Given the description of an element on the screen output the (x, y) to click on. 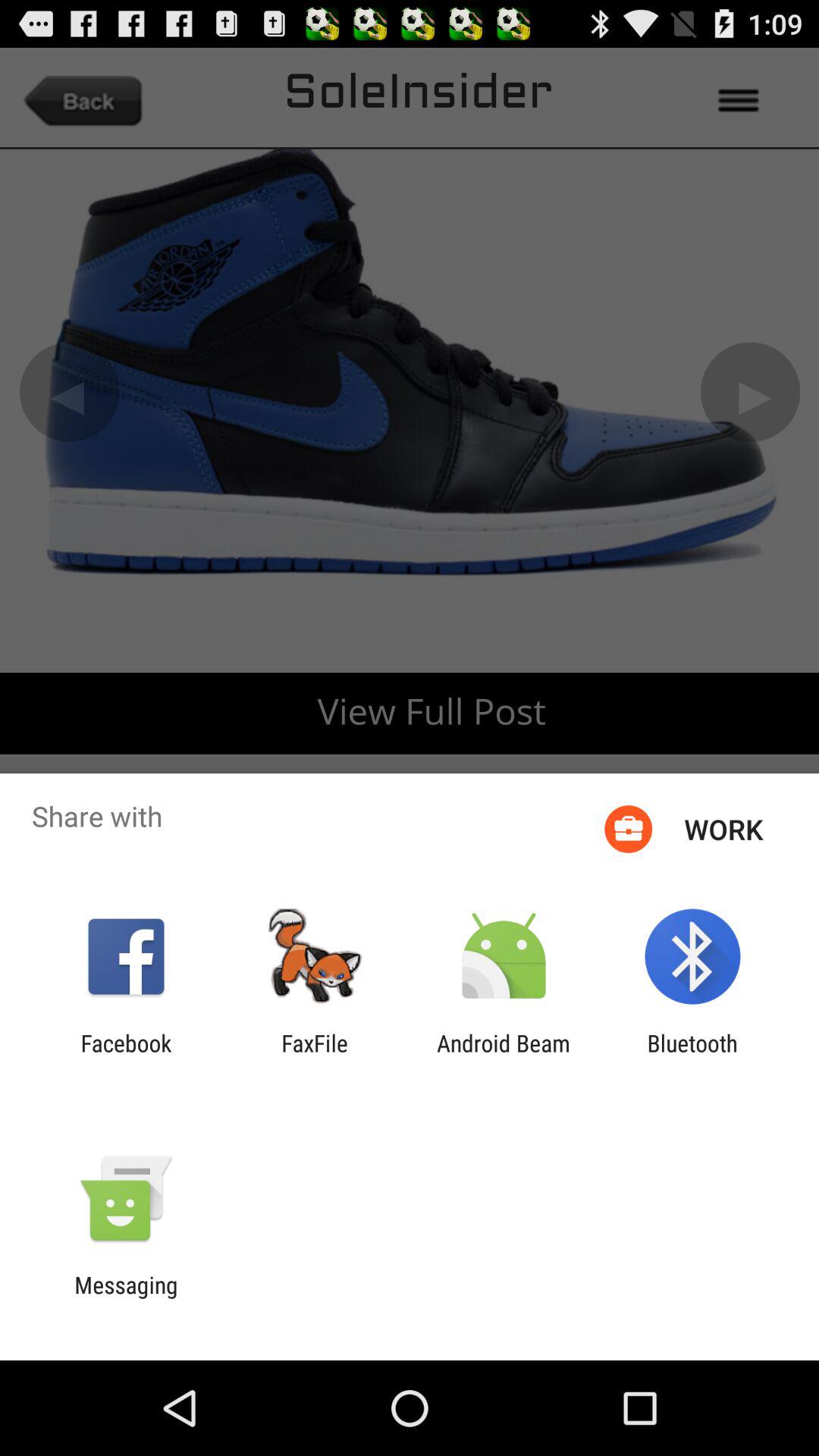
turn on the messaging (126, 1298)
